Given the description of an element on the screen output the (x, y) to click on. 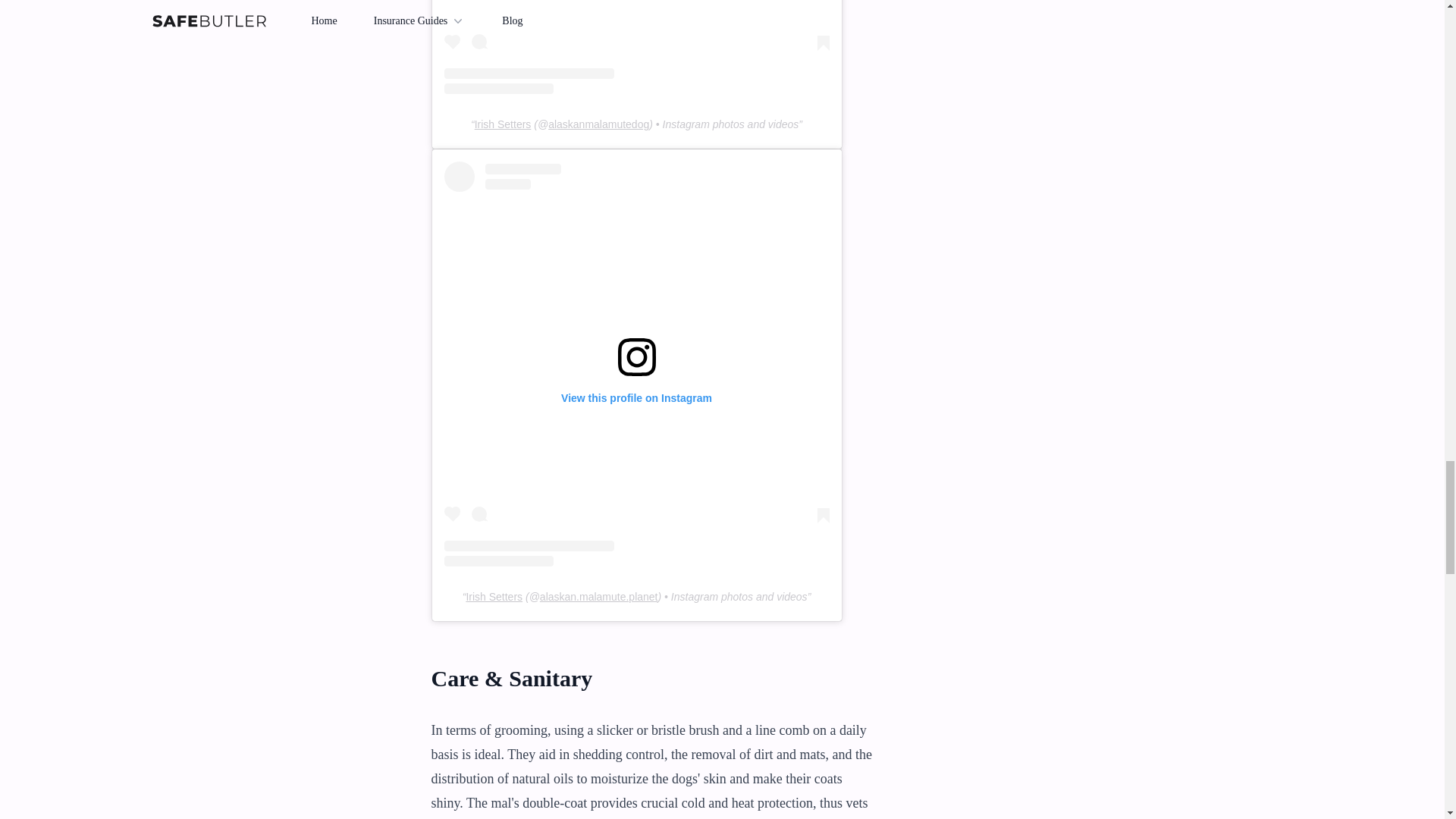
alaskan.malamute.planet (599, 596)
View this profile on Instagram (636, 47)
Irish Setters (493, 596)
alaskanmalamutedog (598, 123)
Irish Setters (502, 123)
